Given the description of an element on the screen output the (x, y) to click on. 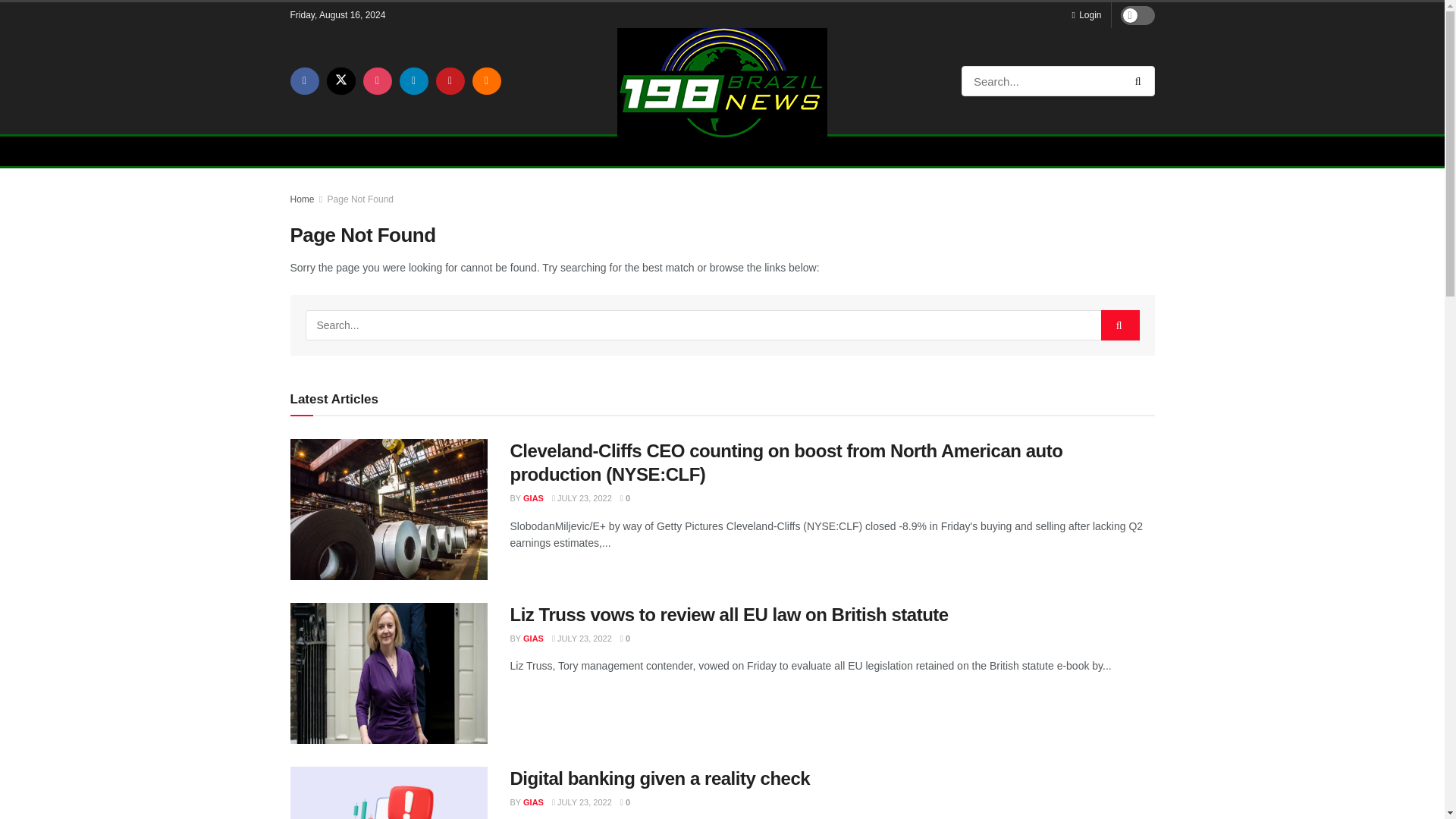
Liz Truss vows to review all EU law on British statute (728, 614)
Liz Truss vows to review all EU law on British statute (387, 672)
GIAS (532, 497)
Login (1085, 14)
0 (625, 497)
Home (301, 199)
Digital banking given a reality check (387, 792)
JULY 23, 2022 (581, 497)
Page Not Found (360, 199)
